Given the description of an element on the screen output the (x, y) to click on. 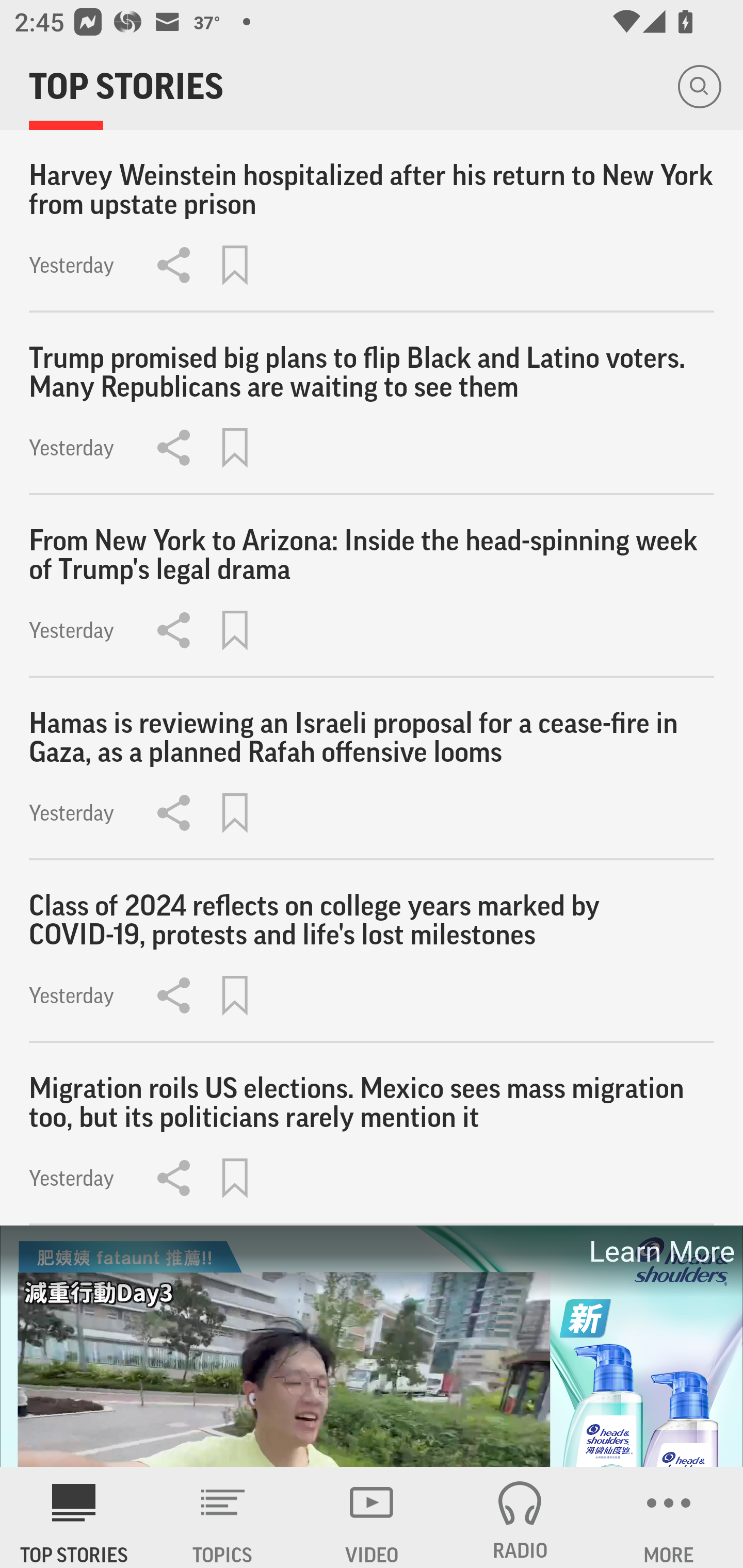
toggle controls (371, 1346)
AP News TOP STORIES (74, 1517)
TOPICS (222, 1517)
VIDEO (371, 1517)
RADIO (519, 1517)
MORE (668, 1517)
